Given the description of an element on the screen output the (x, y) to click on. 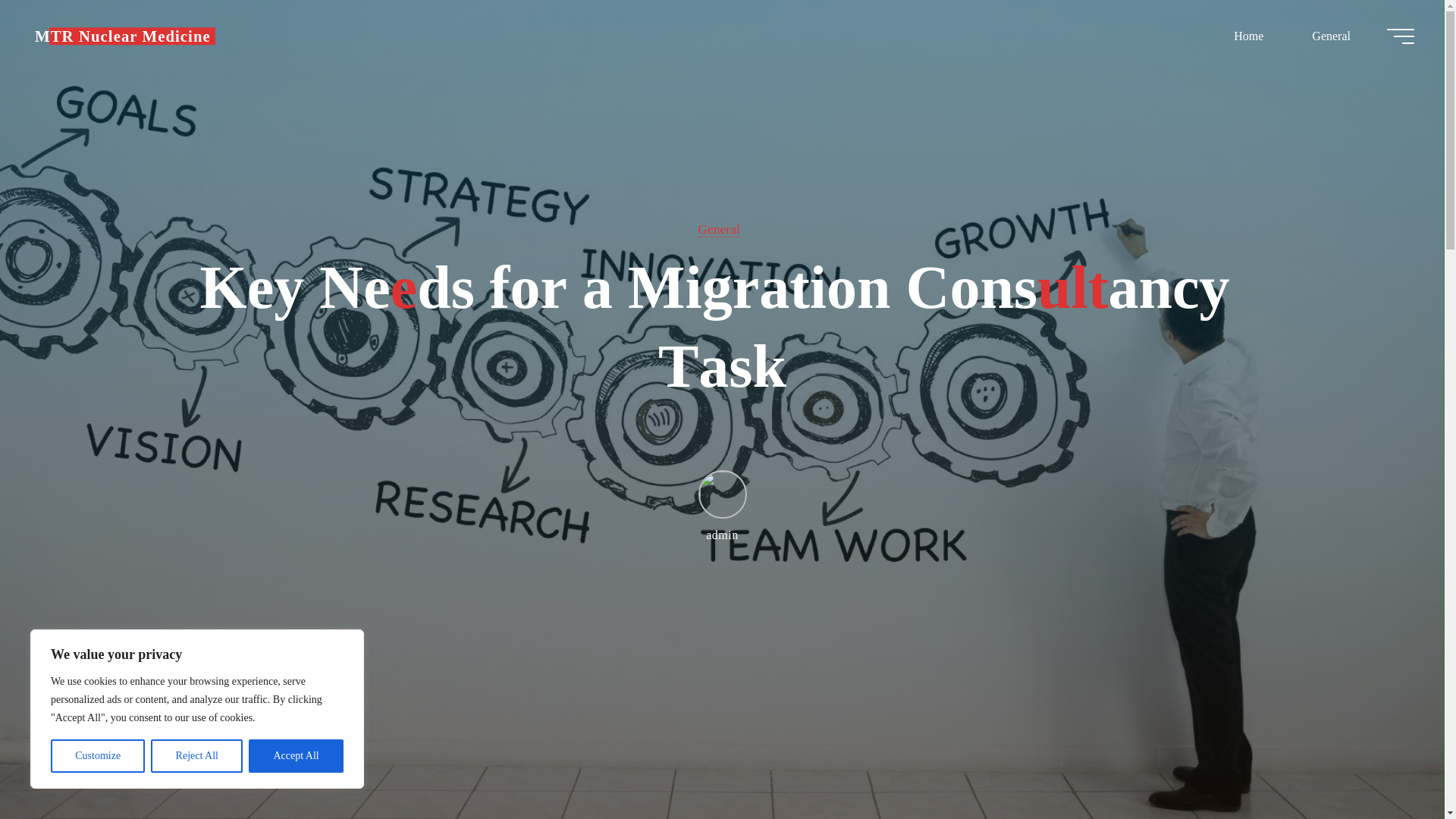
Customize (97, 756)
Blog (122, 36)
Accept All (295, 756)
Read more (721, 724)
MTR Nuclear Medicine (122, 36)
General (1330, 35)
Reject All (197, 756)
General (718, 229)
Home (1248, 35)
